Given the description of an element on the screen output the (x, y) to click on. 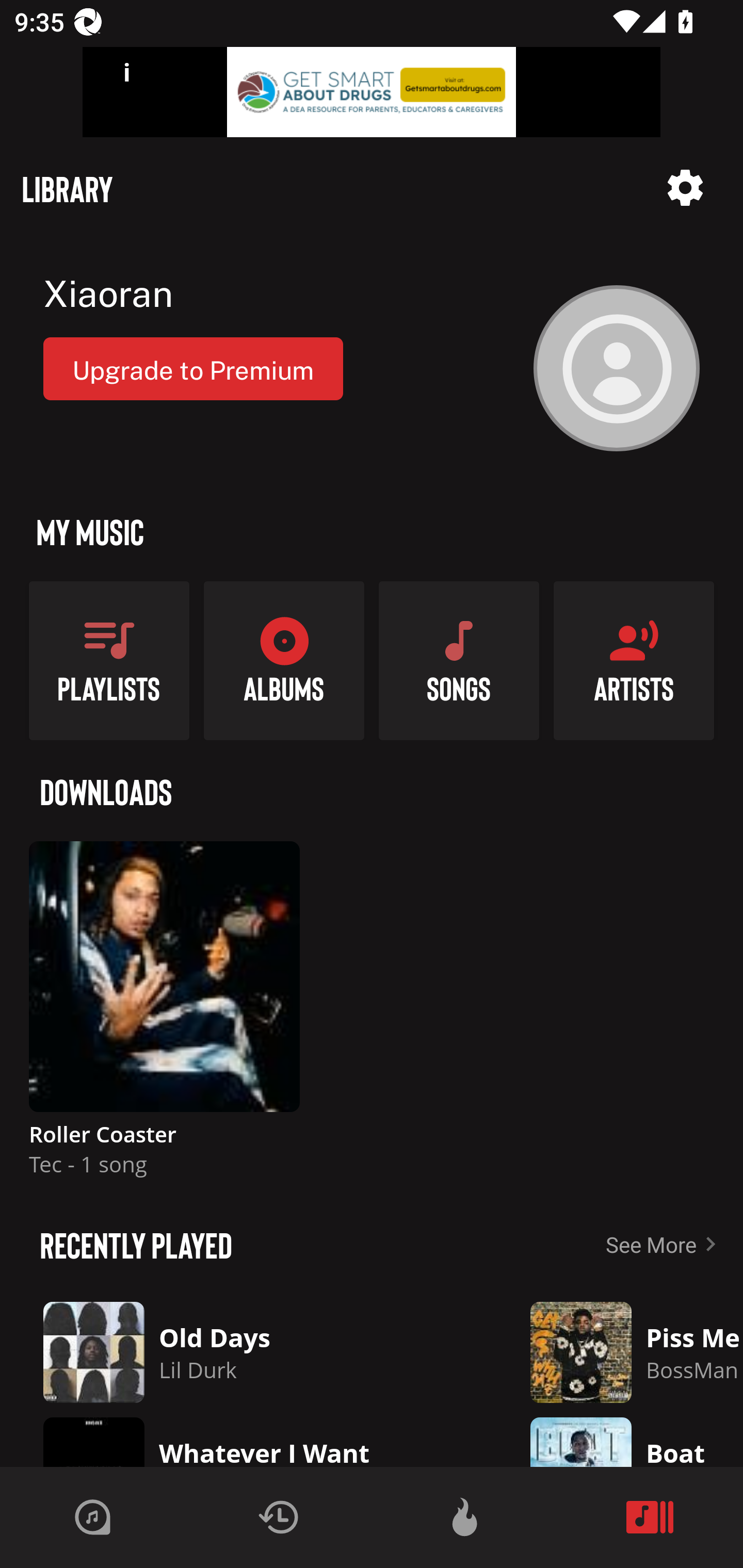
Description (684, 188)
Upgrade to Premium (193, 368)
Playlists (108, 660)
Albums (283, 660)
Songs (458, 660)
Artists (633, 660)
Description Roller Coaster Tec - 1 song (164, 1017)
See More (664, 1244)
Description Old Days Lil Durk (250, 1352)
Description Piss Me Off BossMan Dlow (622, 1352)
